Given the description of an element on the screen output the (x, y) to click on. 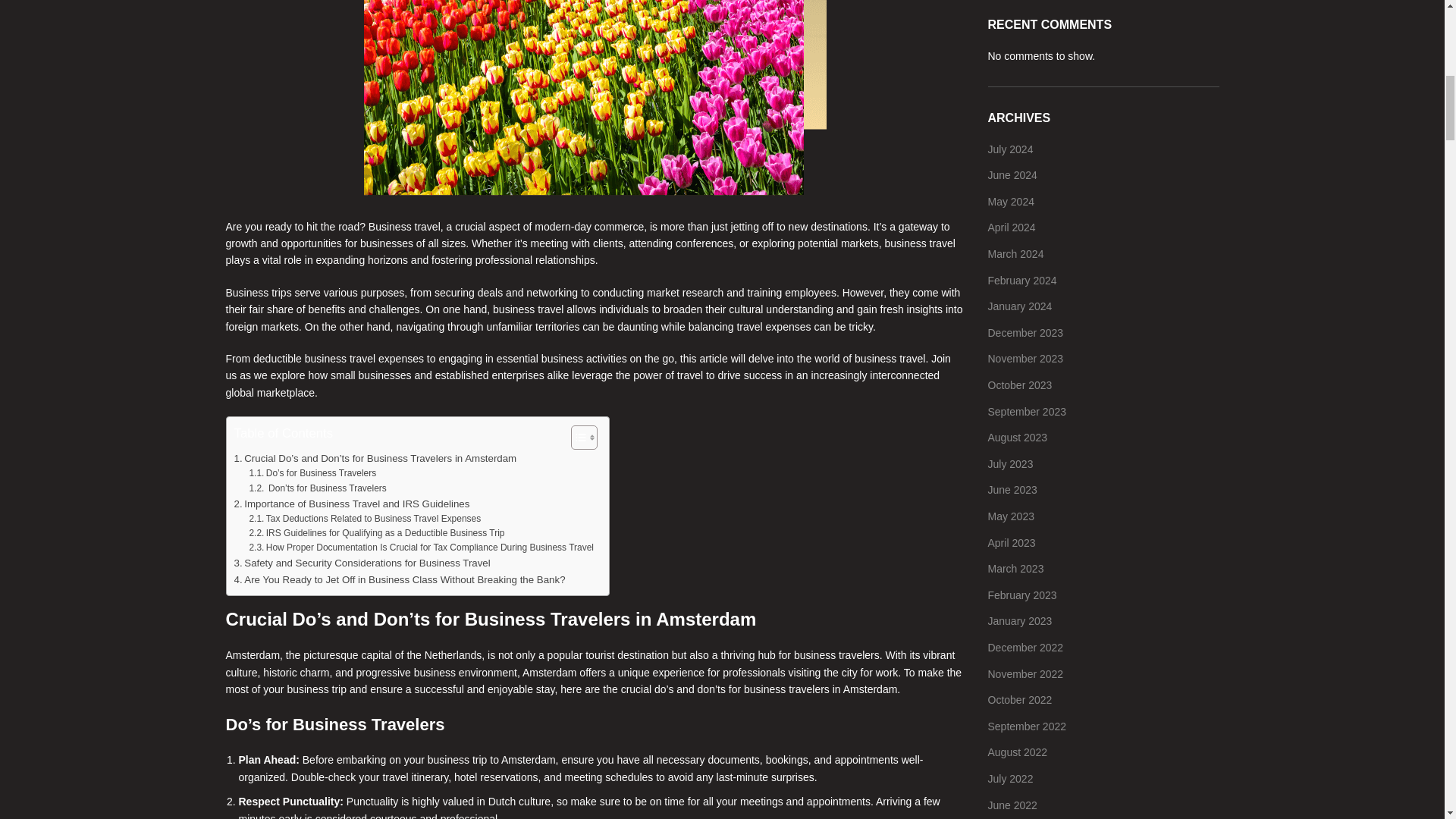
Tax Deductions Related to Business Travel Expenses (364, 518)
Safety and Security Considerations for Business Travel (360, 562)
Importance of Business Travel and IRS Guidelines (350, 503)
IRS Guidelines for Qualifying as a Deductible Business Trip (375, 533)
